Given the description of an element on the screen output the (x, y) to click on. 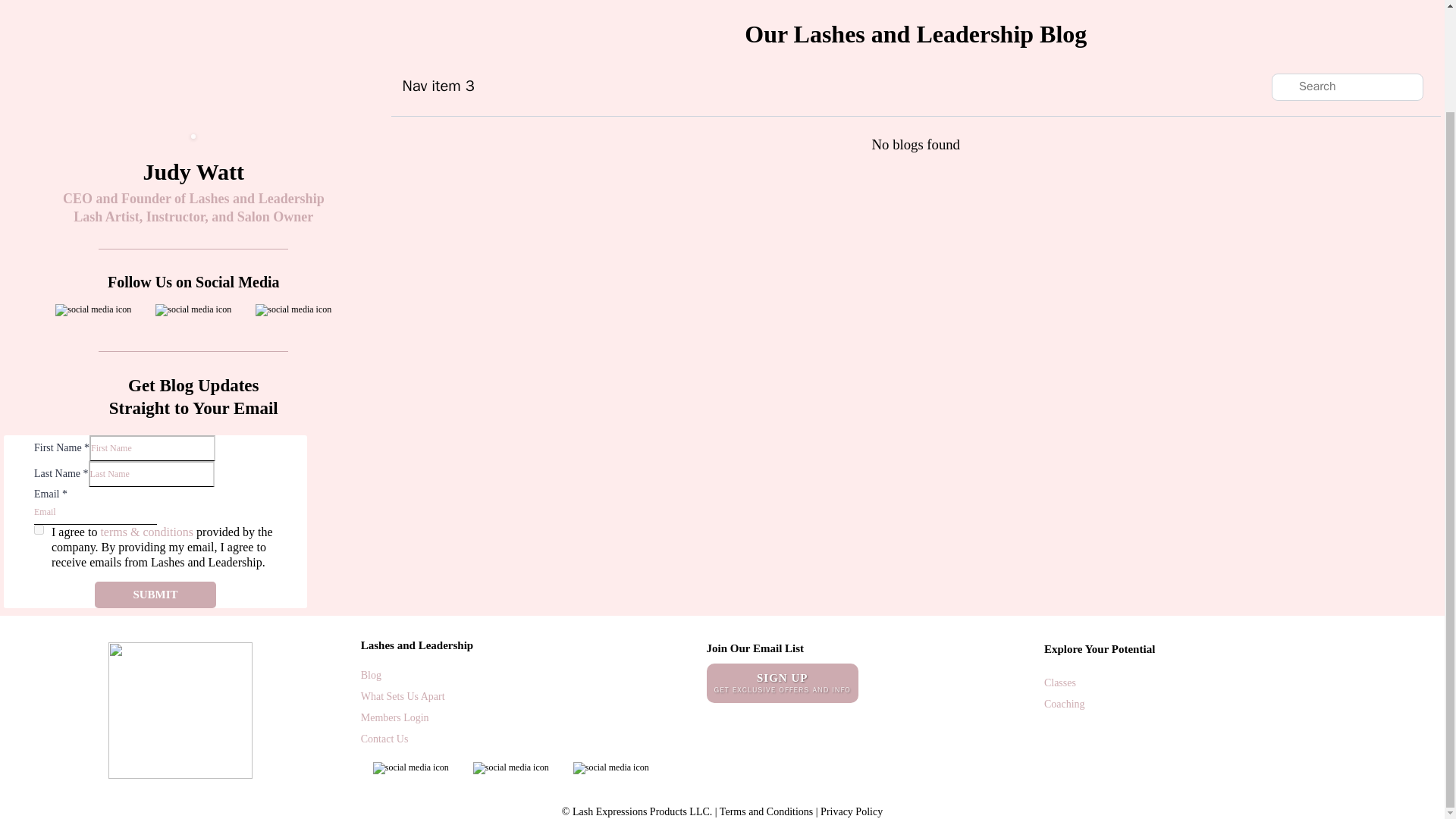
Members Login (395, 717)
What Sets Us Apart (403, 696)
Contact Us (385, 738)
Blog (371, 674)
SUBMIT (154, 594)
Nav item 3 (438, 85)
